Given the description of an element on the screen output the (x, y) to click on. 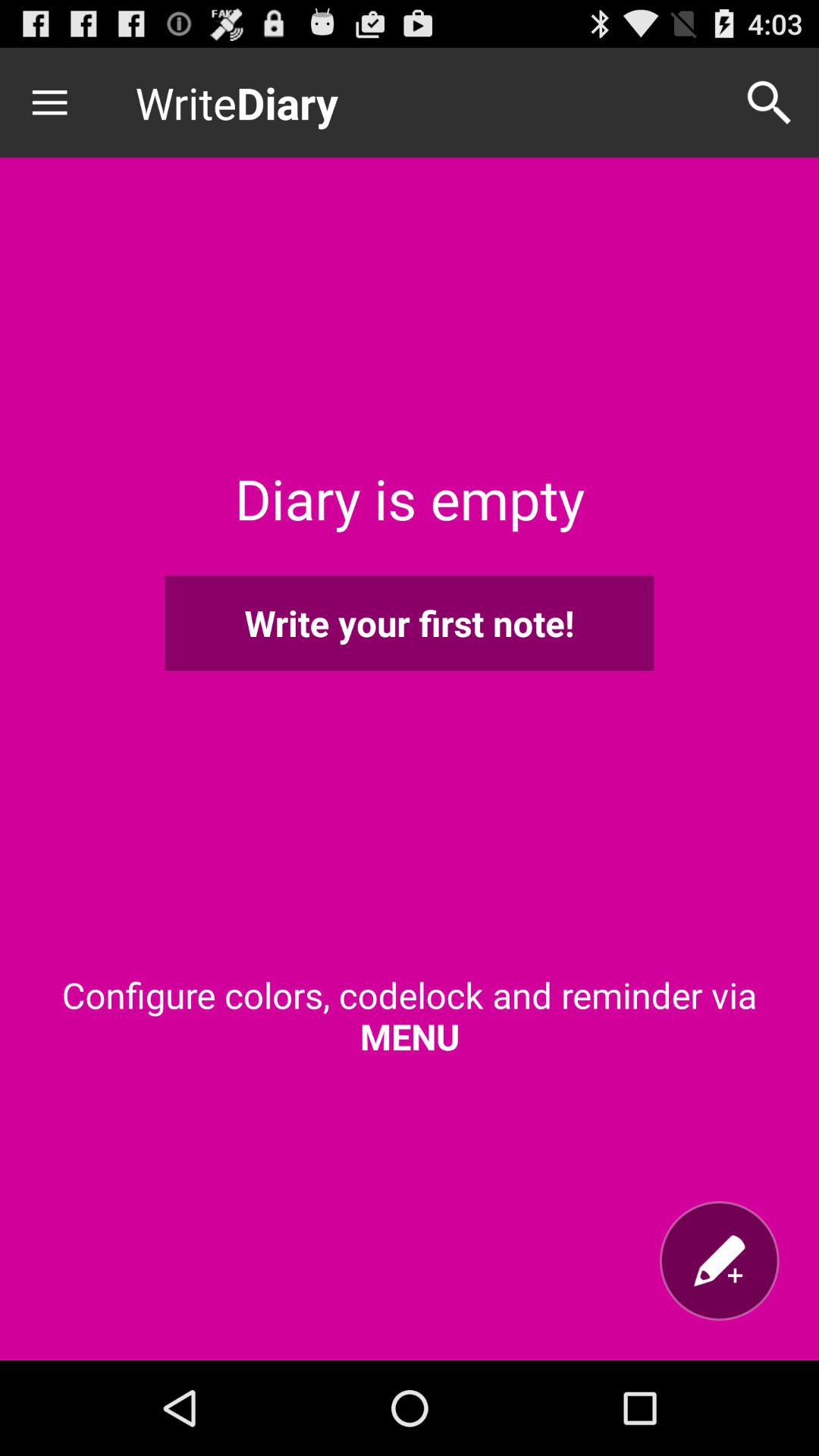
click configure colors codelock icon (409, 1015)
